Given the description of an element on the screen output the (x, y) to click on. 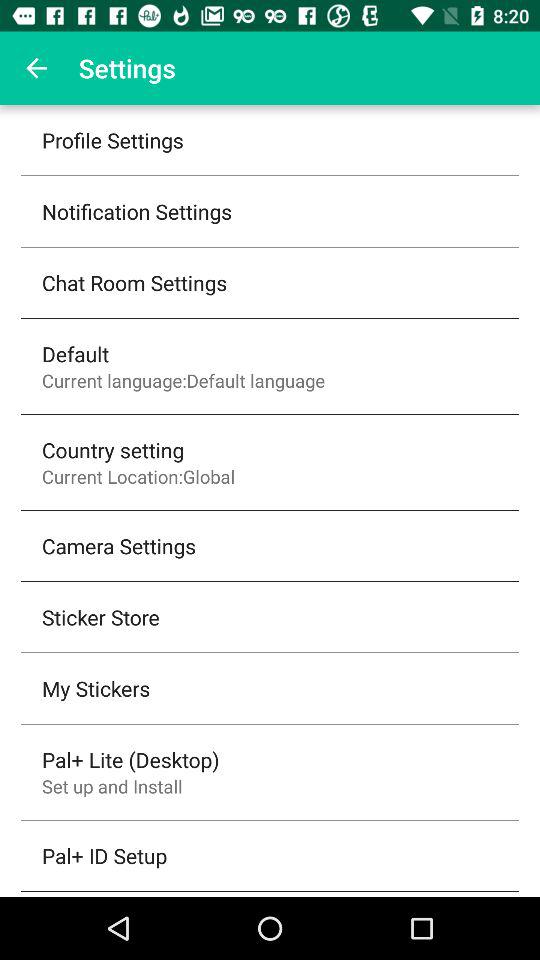
choose the item next to settings (36, 68)
